Given the description of an element on the screen output the (x, y) to click on. 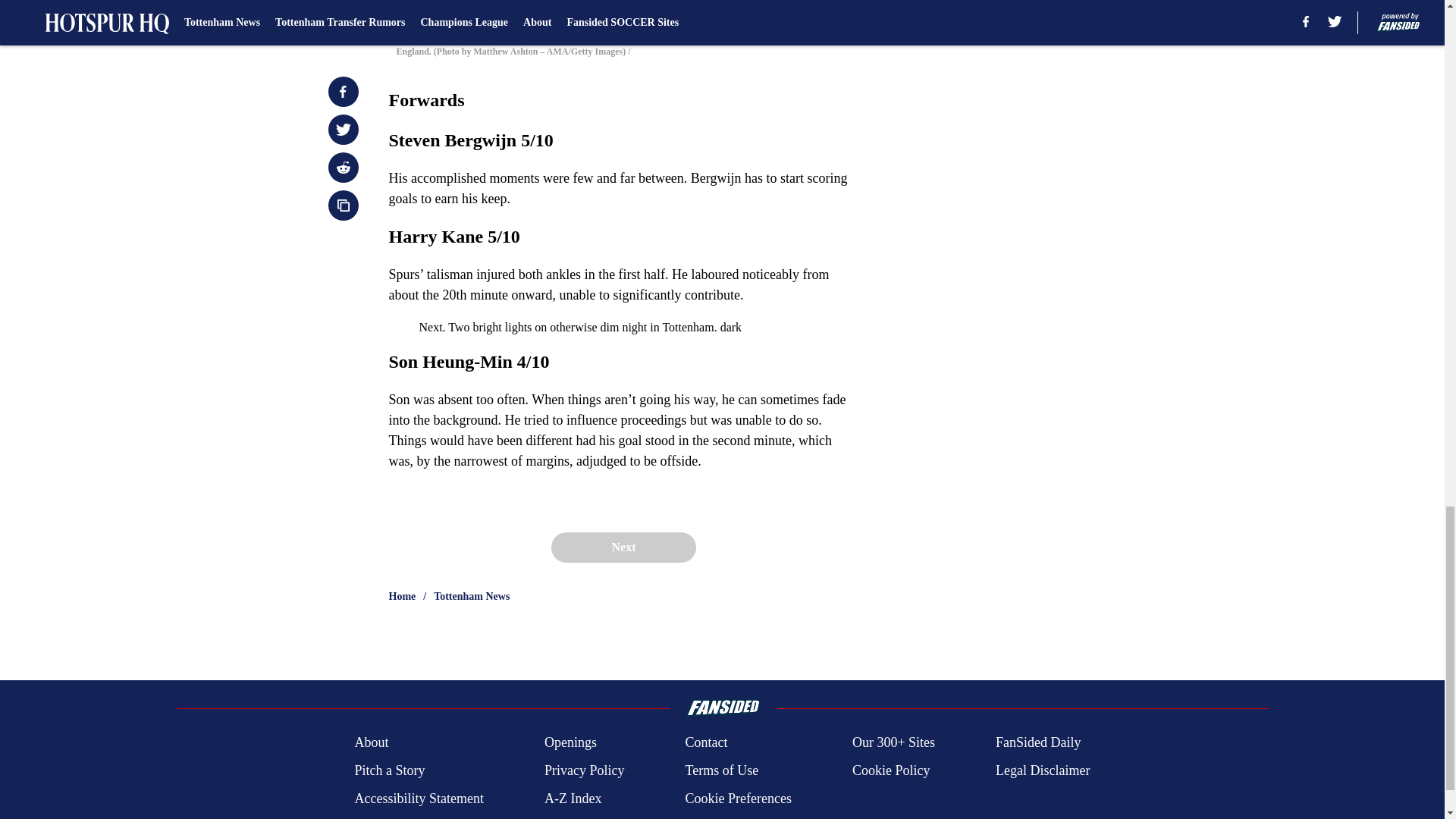
Terms of Use (721, 770)
Pitch a Story (389, 770)
Legal Disclaimer (1042, 770)
Contact (705, 742)
About (370, 742)
A-Z Index (572, 798)
Openings (570, 742)
FanSided Daily (1038, 742)
Cookie Policy (890, 770)
Tottenham News (471, 596)
